Given the description of an element on the screen output the (x, y) to click on. 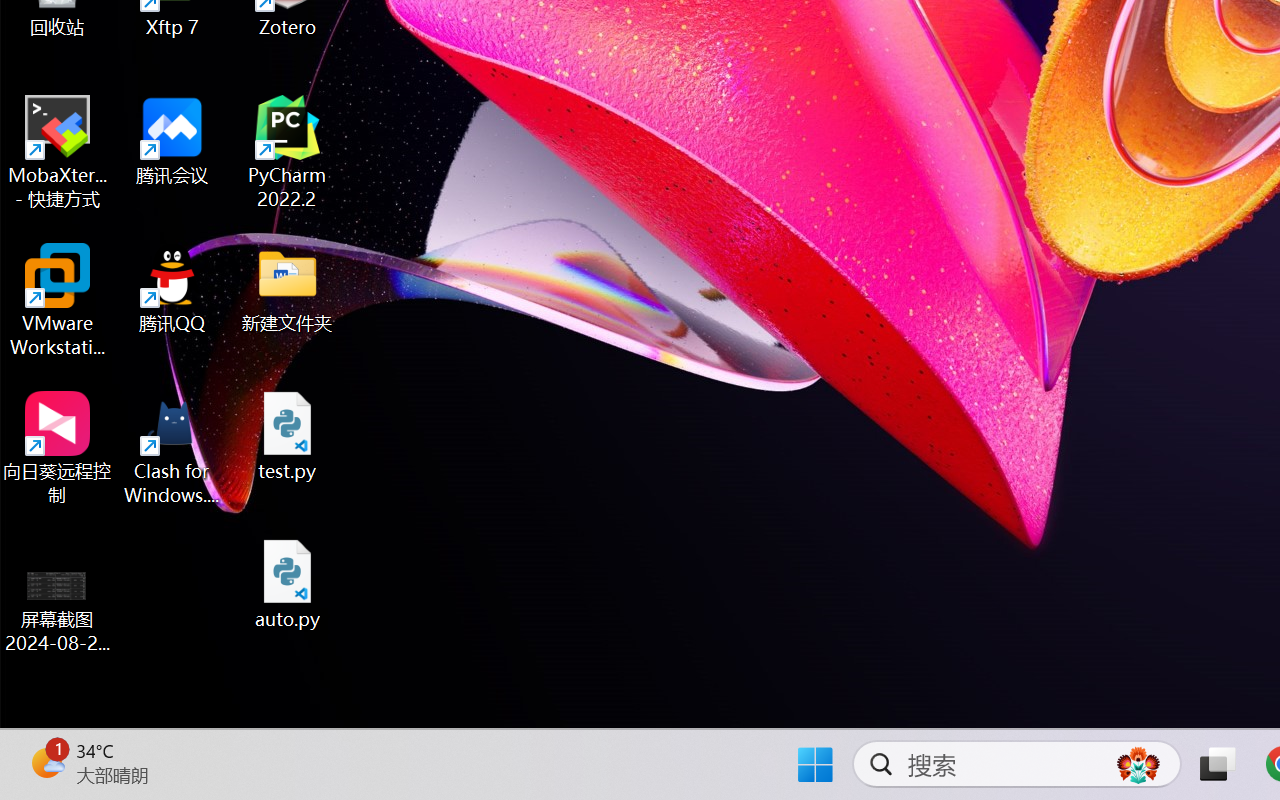
PyCharm 2022.2 (287, 152)
